Given the description of an element on the screen output the (x, y) to click on. 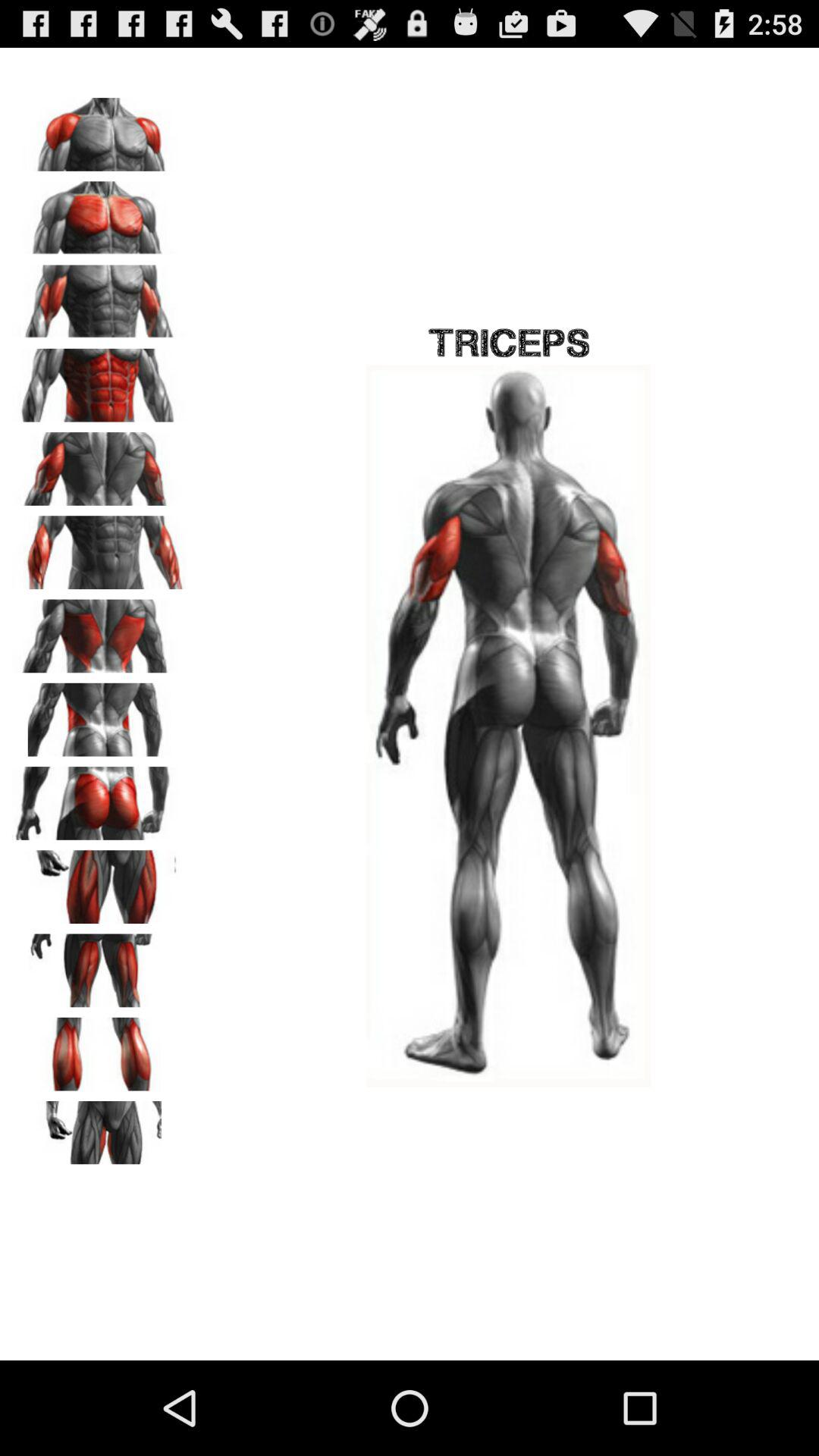
butt muscle selection (99, 798)
